Given the description of an element on the screen output the (x, y) to click on. 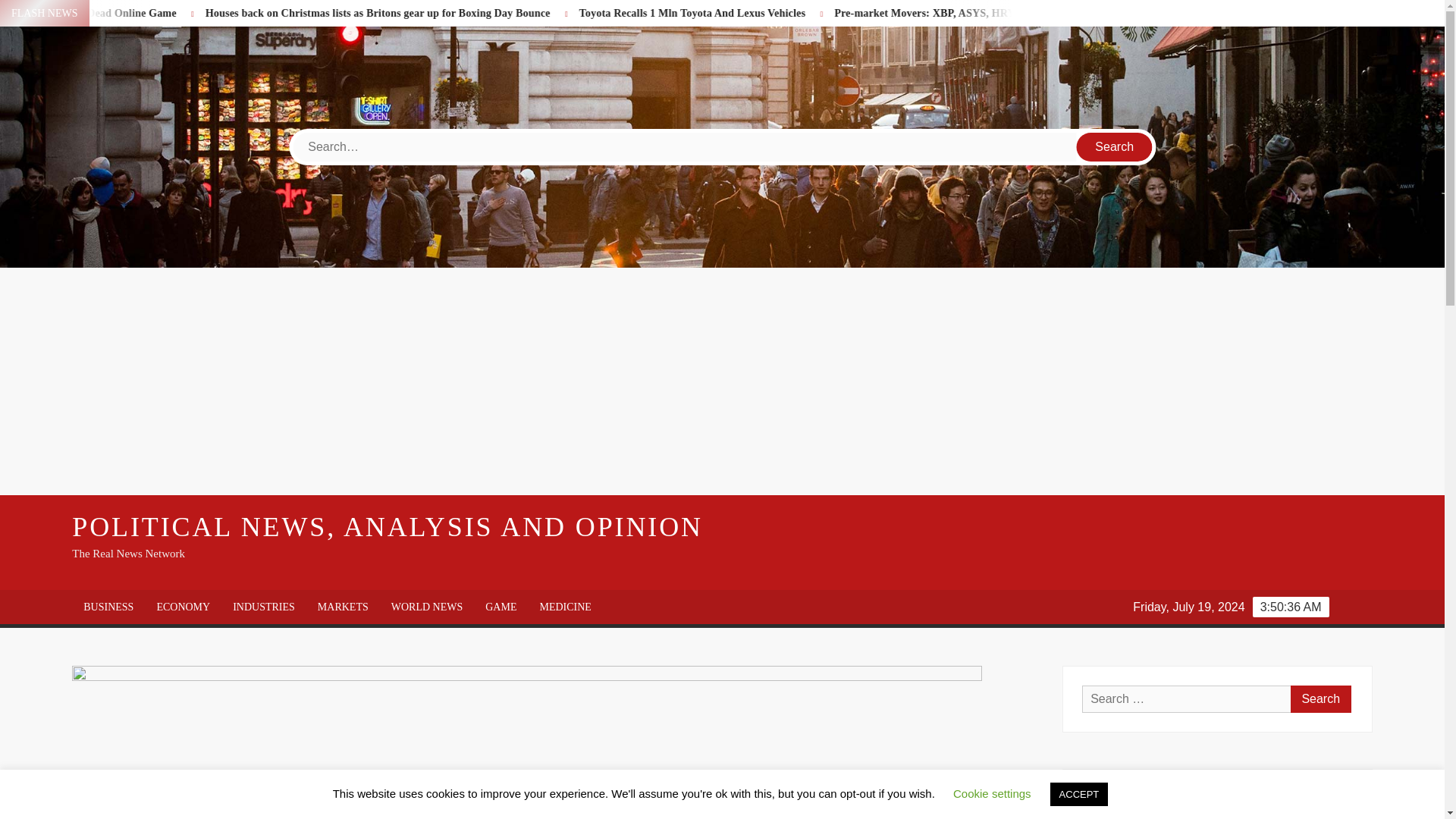
WORLD NEWS (427, 606)
ECONOMY (182, 606)
BUSINESS (107, 606)
GAME (500, 606)
Search (1115, 146)
Search (1320, 698)
Search (1115, 146)
Search (1320, 698)
POLITICAL NEWS, ANALYSIS AND OPINION (387, 526)
Toyota Recalls 1 Mln Toyota And Lexus Vehicles (811, 12)
INDUSTRIES (263, 606)
MARKETS (342, 606)
Search (1115, 146)
MEDICINE (564, 606)
